Given the description of an element on the screen output the (x, y) to click on. 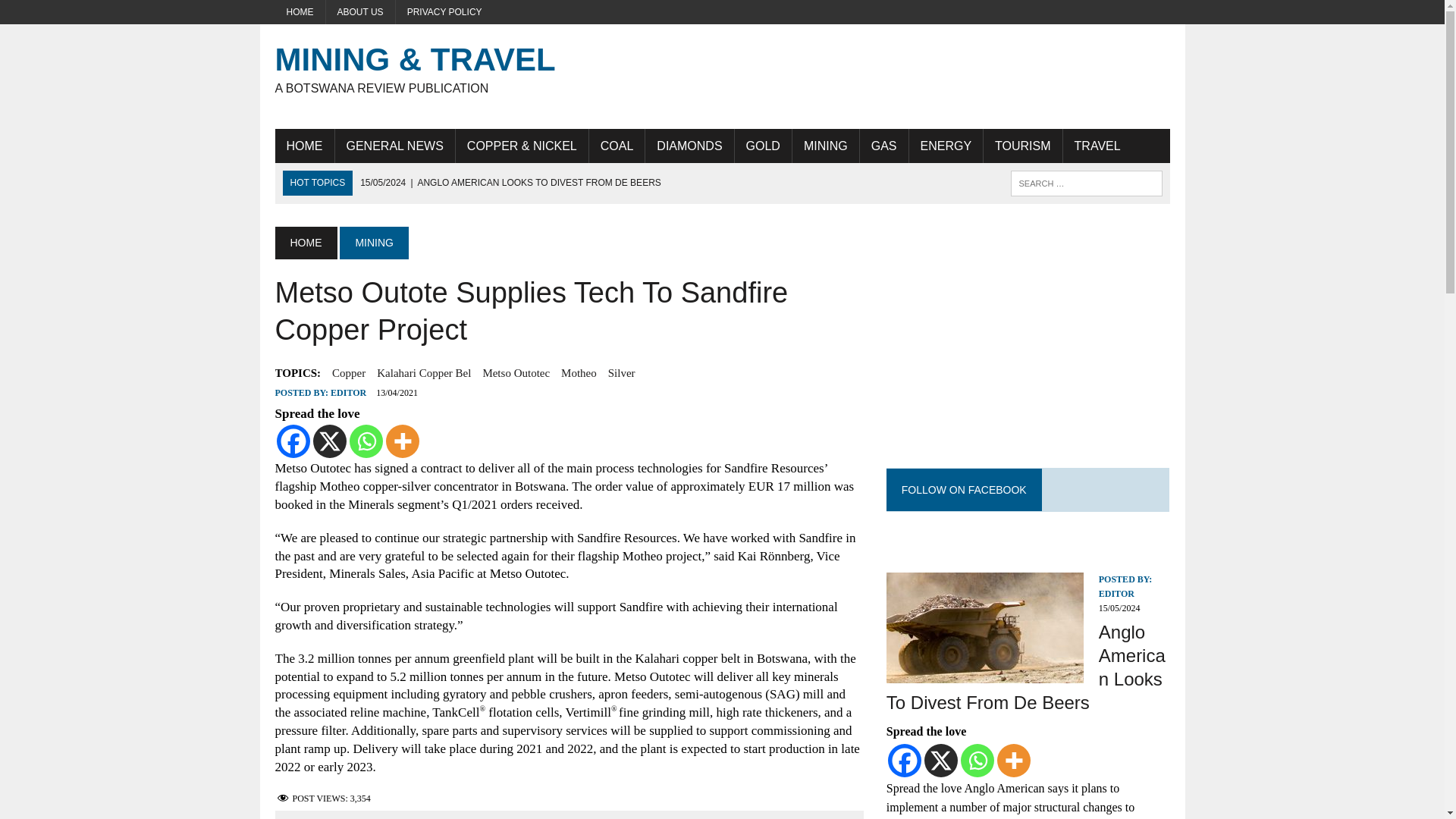
HOME (305, 242)
Kalahari Copper Bel (423, 372)
HOME (299, 12)
PRIVACY POLICY (444, 12)
GENERAL NEWS (394, 145)
Metso Outotec (515, 372)
X (329, 441)
MINING (825, 145)
TOURISM (1022, 145)
ENERGY (945, 145)
Advertisement (893, 73)
TRAVEL (1097, 145)
Anglo American looks to divest from De Beers (510, 182)
GAS (884, 145)
GOLD (763, 145)
